Given the description of an element on the screen output the (x, y) to click on. 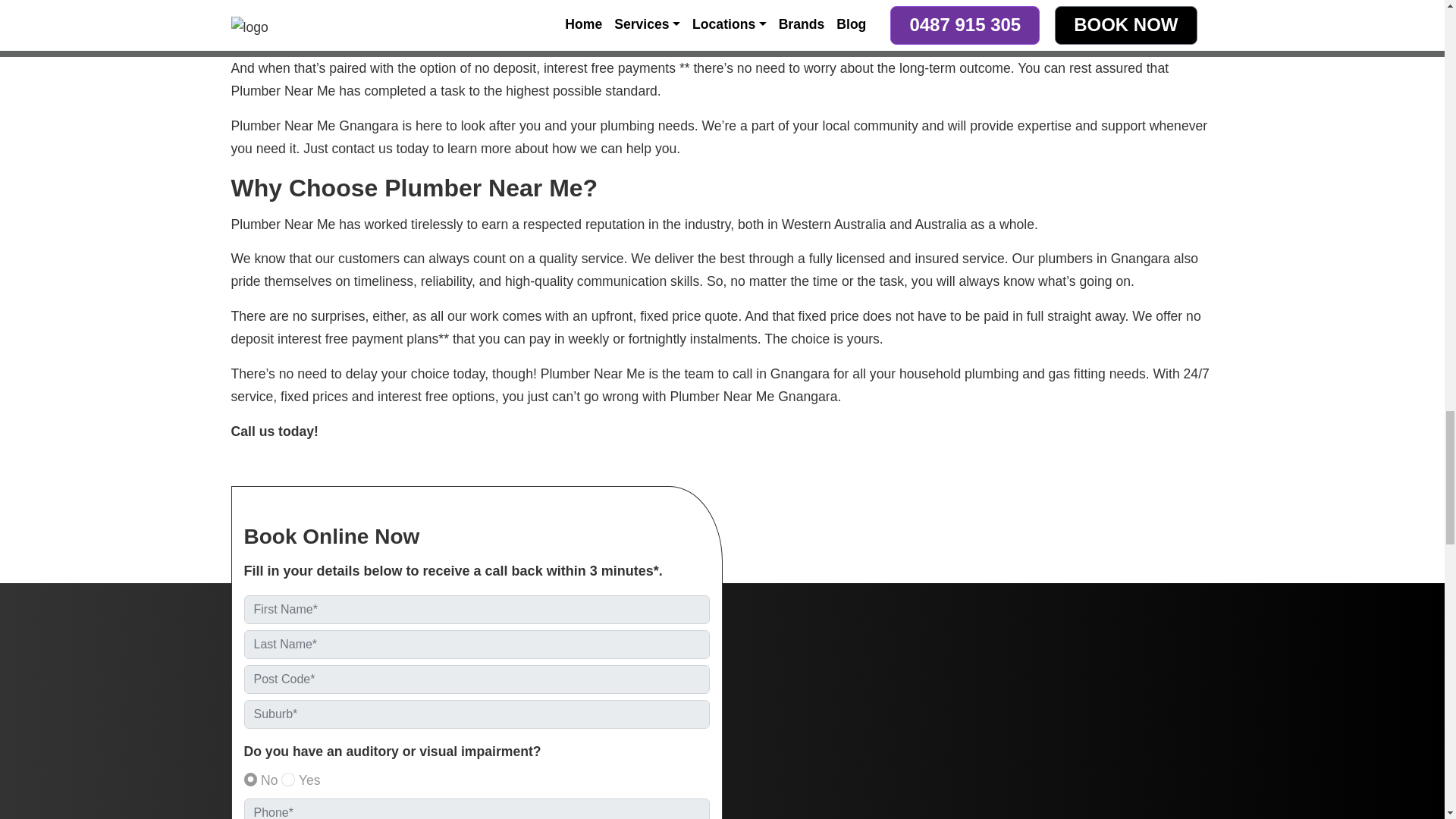
false (250, 779)
true (288, 779)
